Given the description of an element on the screen output the (x, y) to click on. 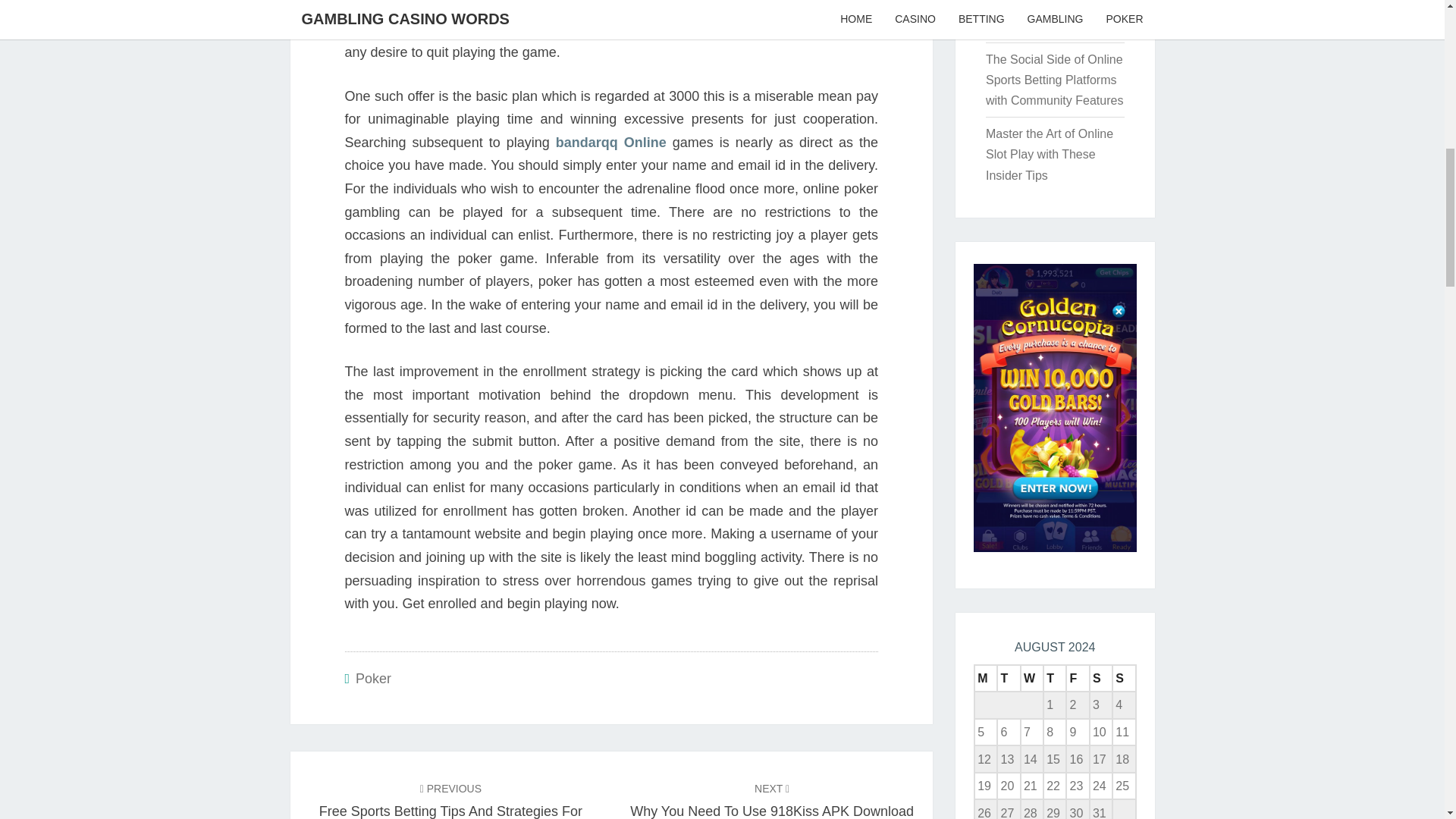
Poker (373, 678)
Master the Art of Online Slot Play with These Insider Tips (1049, 153)
bandarqq Online (611, 142)
